Given the description of an element on the screen output the (x, y) to click on. 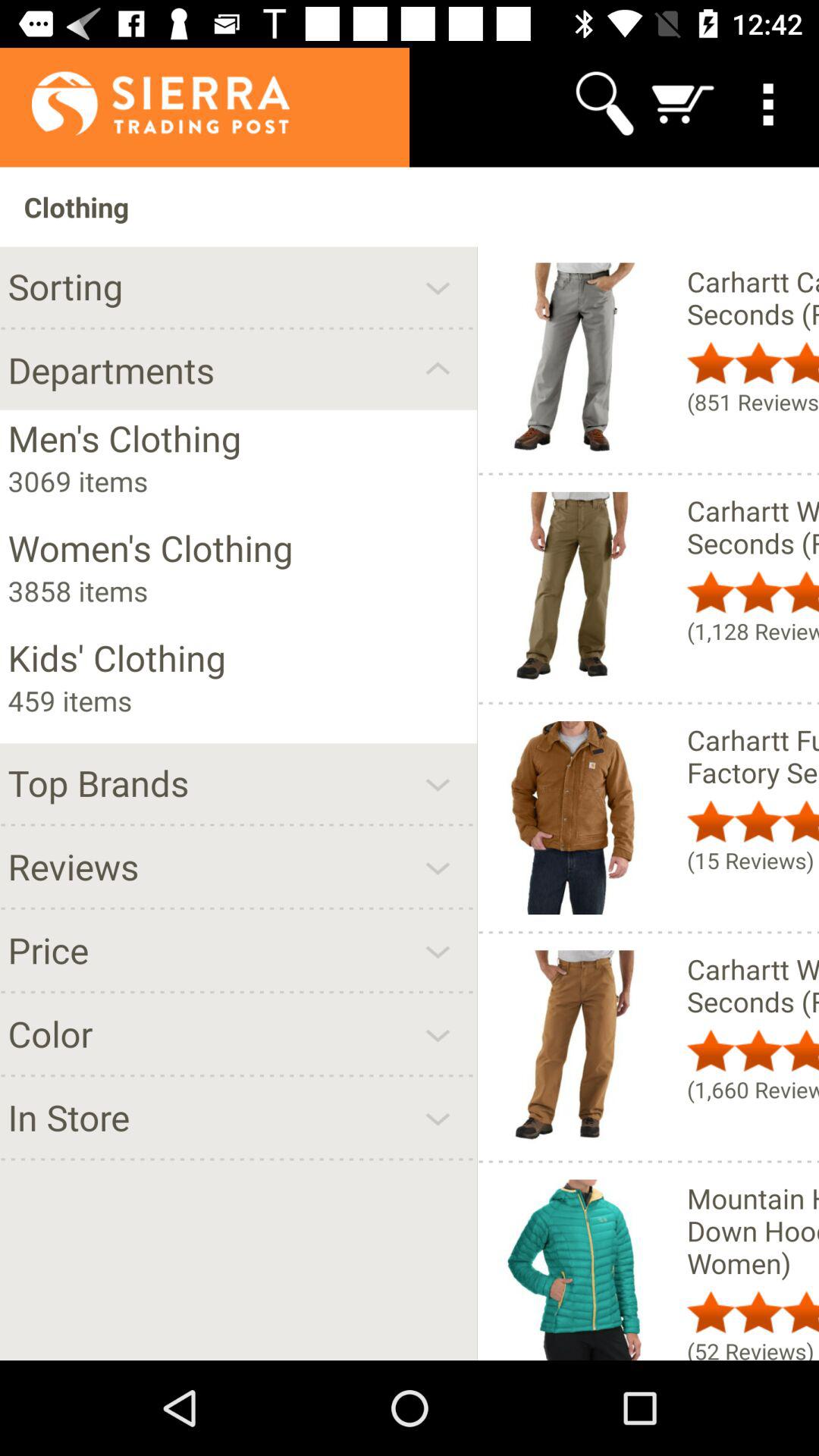
turn on the app above clothing item (144, 103)
